Given the description of an element on the screen output the (x, y) to click on. 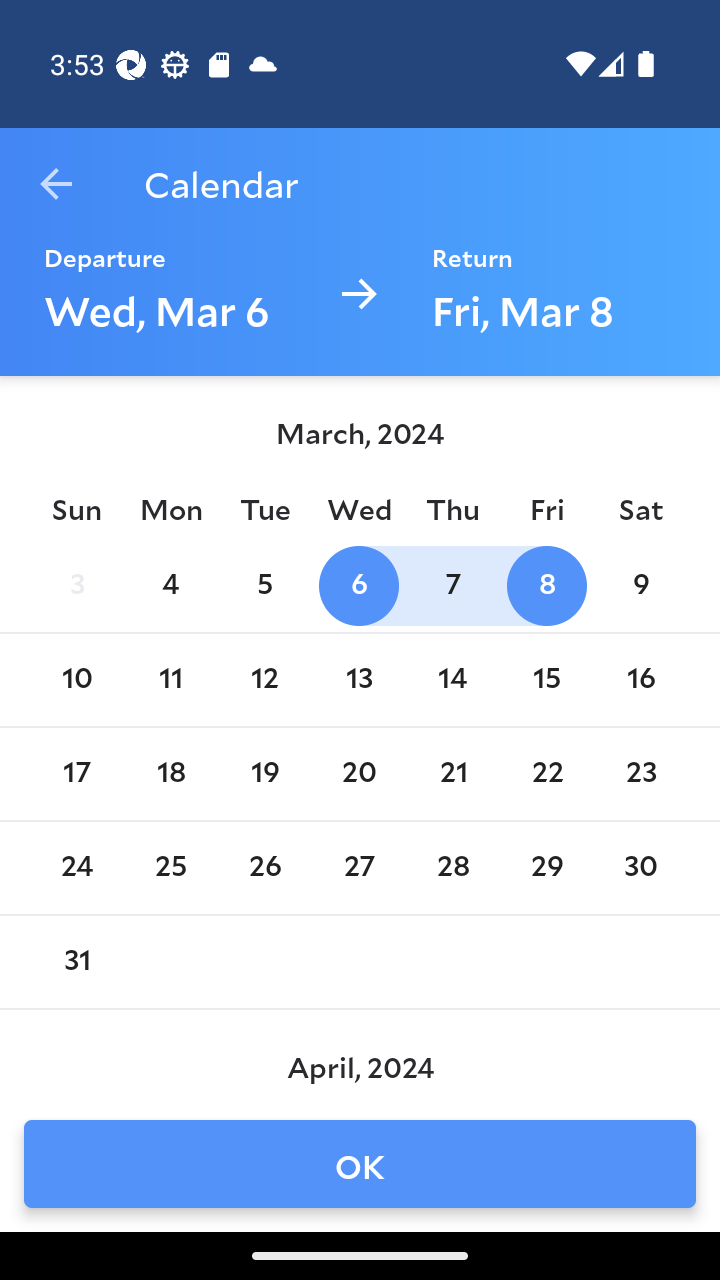
Navigate up (56, 184)
3 (76, 585)
4 (170, 585)
5 (264, 585)
6 (358, 585)
7 (453, 585)
8 (546, 585)
9 (641, 585)
10 (76, 679)
11 (170, 679)
12 (264, 679)
13 (358, 679)
14 (453, 679)
15 (546, 679)
16 (641, 679)
17 (76, 773)
18 (170, 773)
19 (264, 773)
20 (358, 773)
21 (453, 773)
22 (546, 773)
23 (641, 773)
24 (76, 867)
25 (170, 867)
26 (264, 867)
27 (358, 867)
28 (453, 867)
29 (546, 867)
30 (641, 867)
31 (76, 961)
OK (359, 1164)
